Given the description of an element on the screen output the (x, y) to click on. 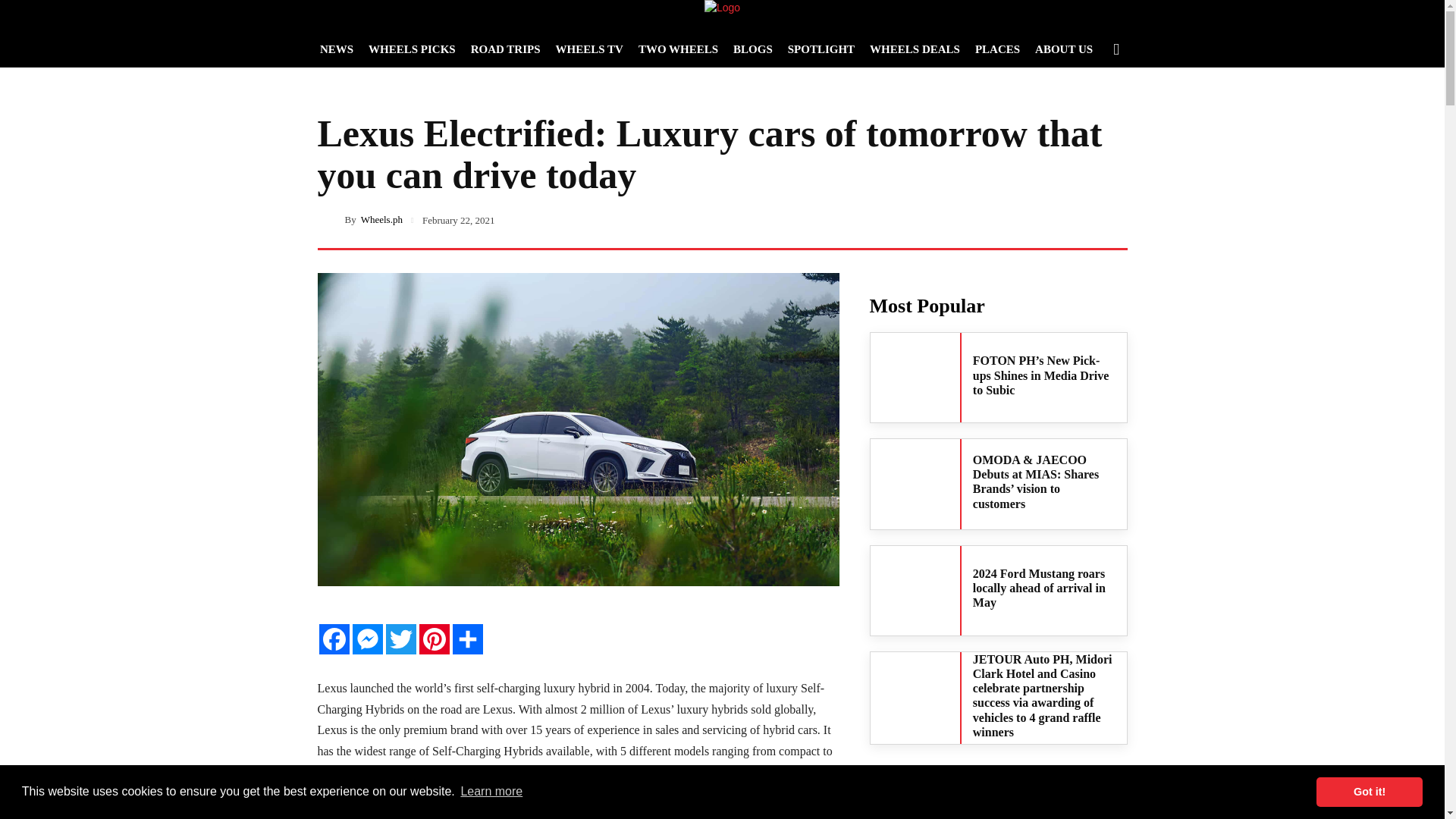
WHEELS PICKS (412, 49)
WHEELS DEALS (914, 49)
WHEELS TV (589, 49)
Got it! (1369, 791)
Wheels.ph (330, 219)
ABOUT US (1063, 49)
Learn more (491, 791)
ROAD TRIPS (505, 49)
BLOGS (752, 49)
Wheels.ph (382, 218)
SPOTLIGHT (820, 49)
NEWS (337, 49)
PLACES (997, 49)
2024 Ford Mustang roars locally ahead of arrival in May (914, 590)
2024 Ford Mustang roars locally ahead of arrival in May (1038, 588)
